Given the description of an element on the screen output the (x, y) to click on. 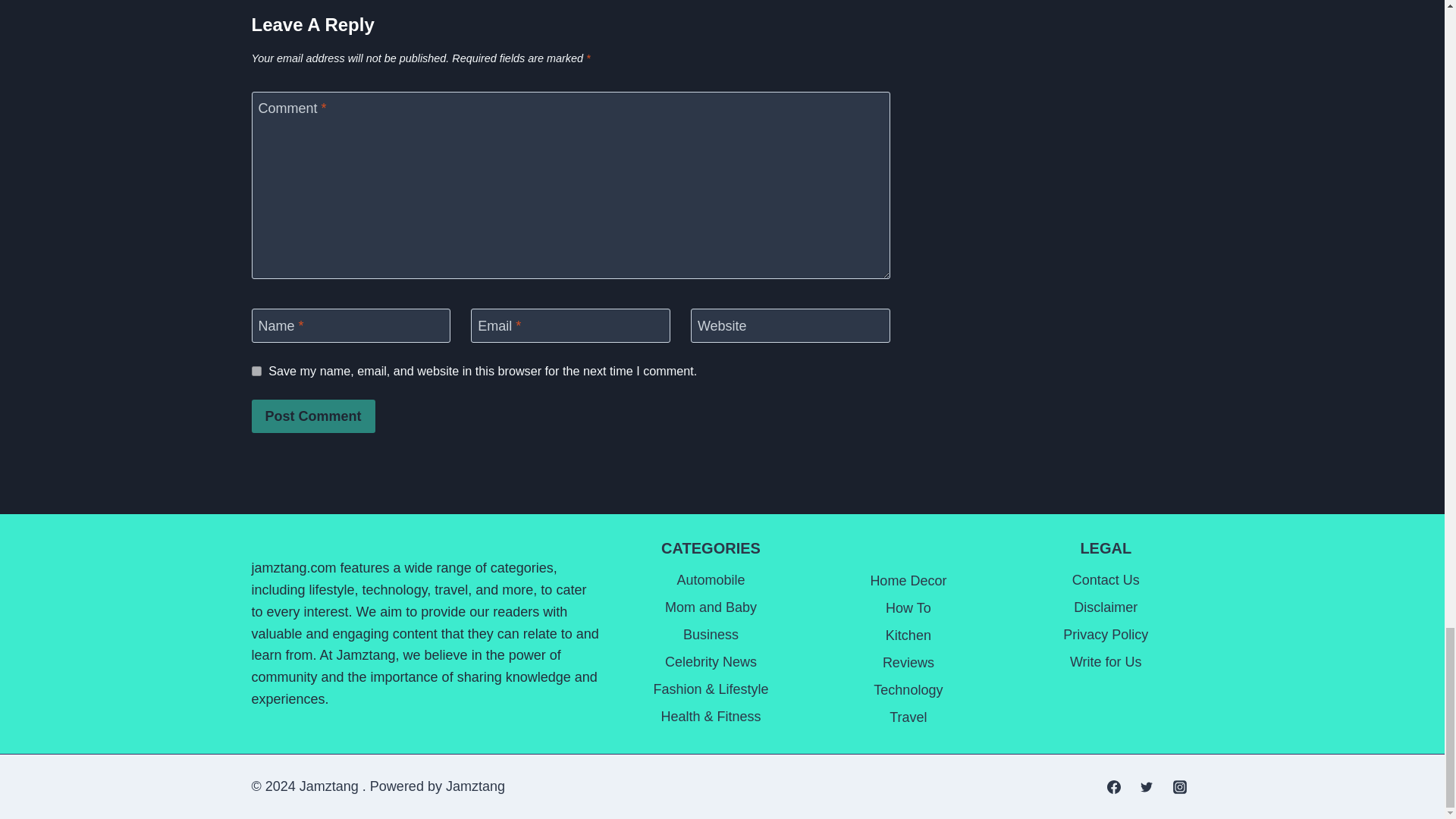
yes (256, 370)
Post Comment (313, 415)
